Given the description of an element on the screen output the (x, y) to click on. 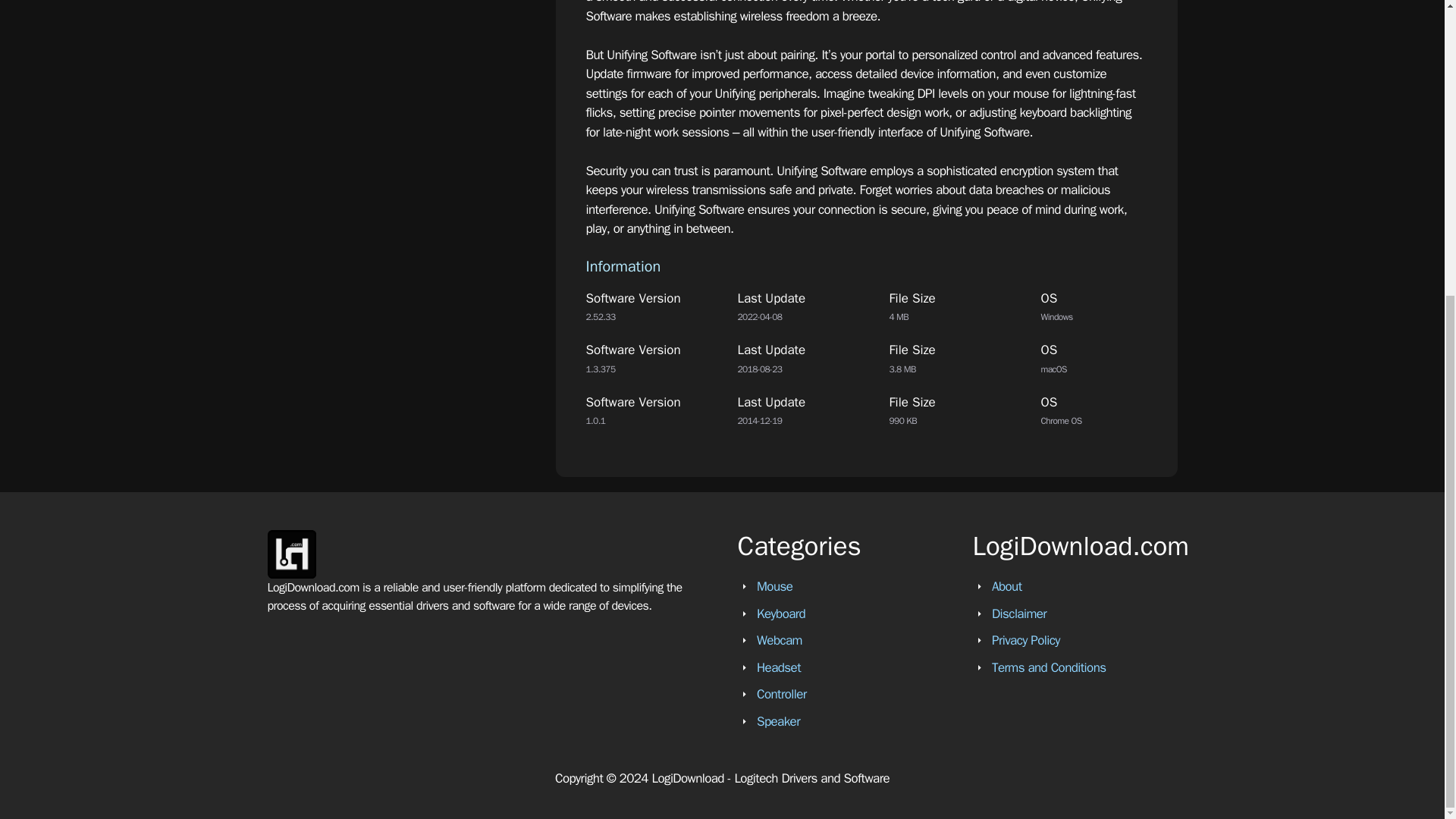
Keyboard (781, 613)
Mouse (774, 586)
Headset (778, 667)
Webcam (779, 640)
logidownload (290, 553)
